Given the description of an element on the screen output the (x, y) to click on. 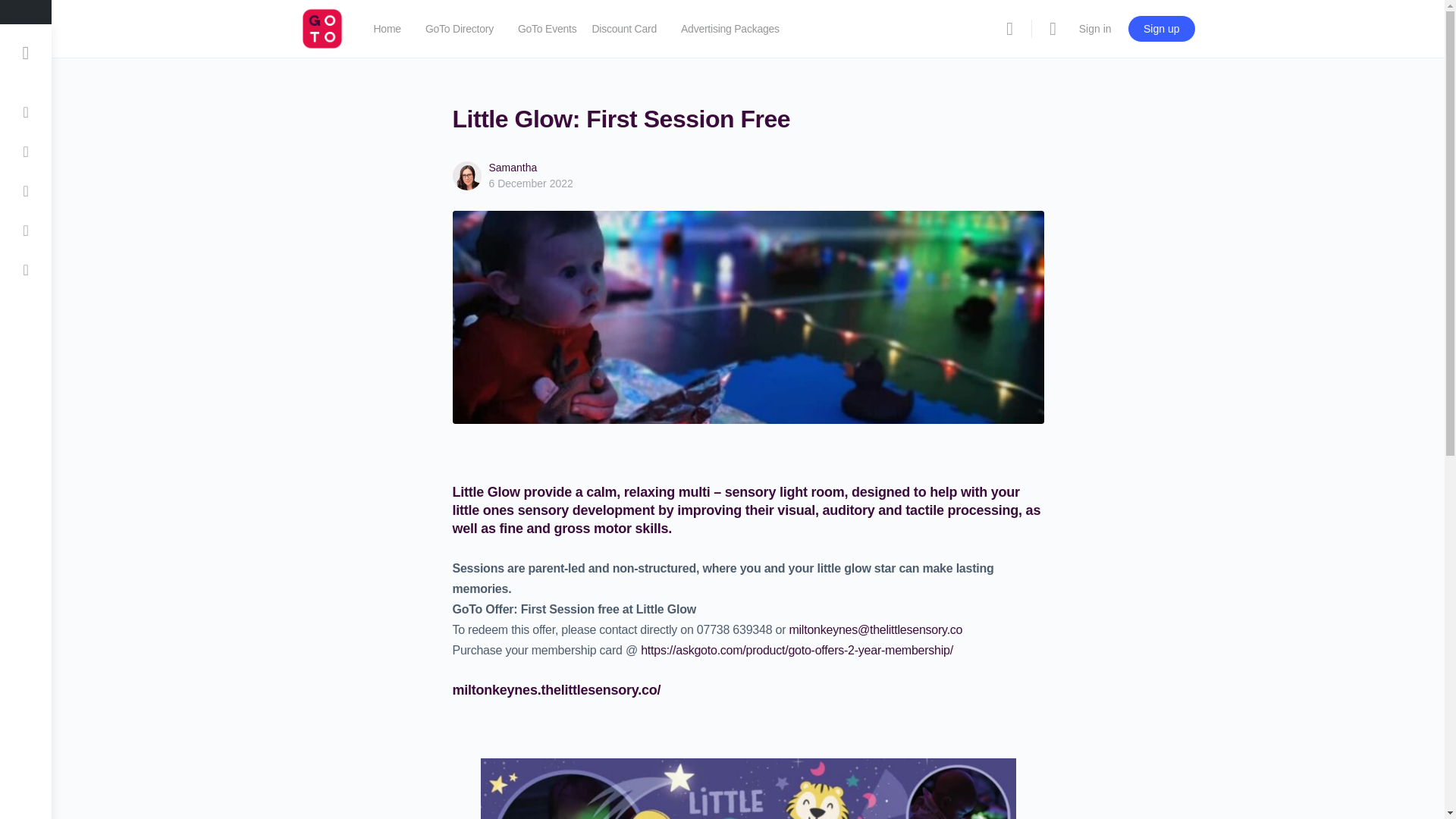
Sign up (1160, 28)
Sign in (1095, 28)
Discount Card (623, 28)
GoTo Directory (459, 28)
Advertising Packages (729, 28)
GoTo Events (547, 28)
